Given the description of an element on the screen output the (x, y) to click on. 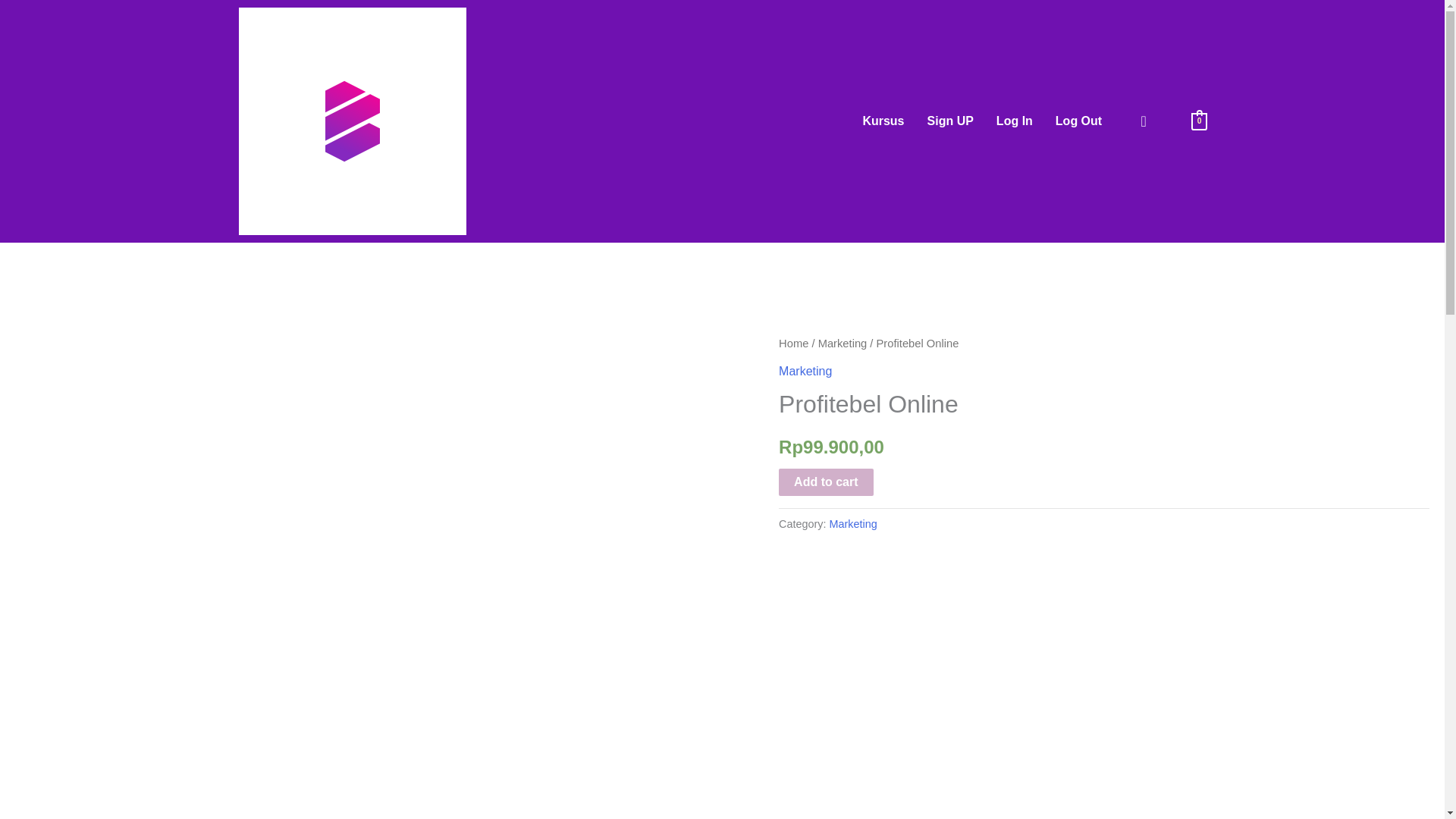
0 (1199, 120)
View your shopping cart (1199, 120)
Log Out (1078, 121)
Marketing (853, 523)
Home (793, 343)
Marketing (804, 370)
Marketing (842, 343)
Sign UP (950, 121)
Log In (1014, 121)
Kursus (882, 121)
Add to cart (825, 482)
